Given the description of an element on the screen output the (x, y) to click on. 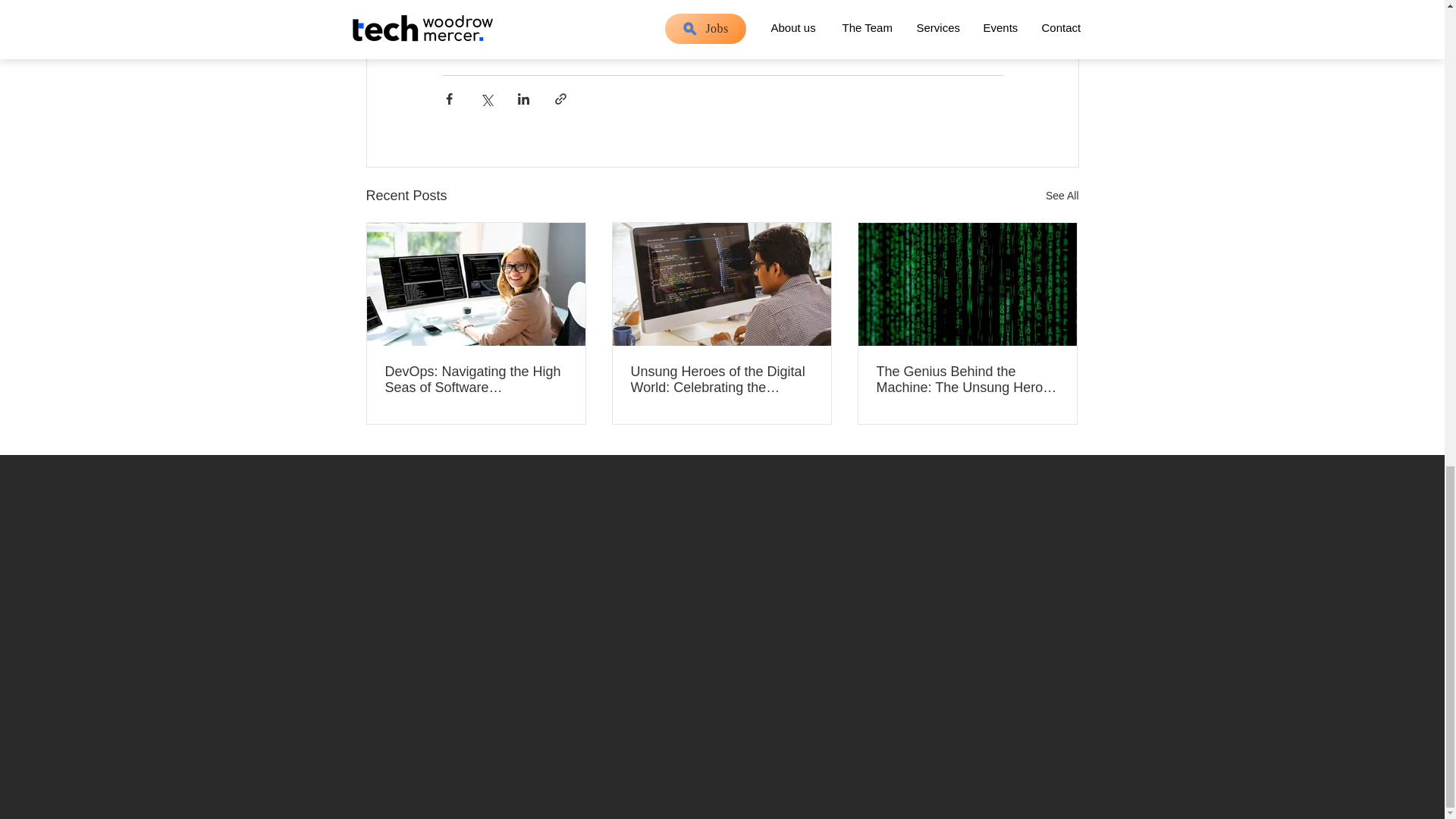
See All (1061, 196)
